Given the description of an element on the screen output the (x, y) to click on. 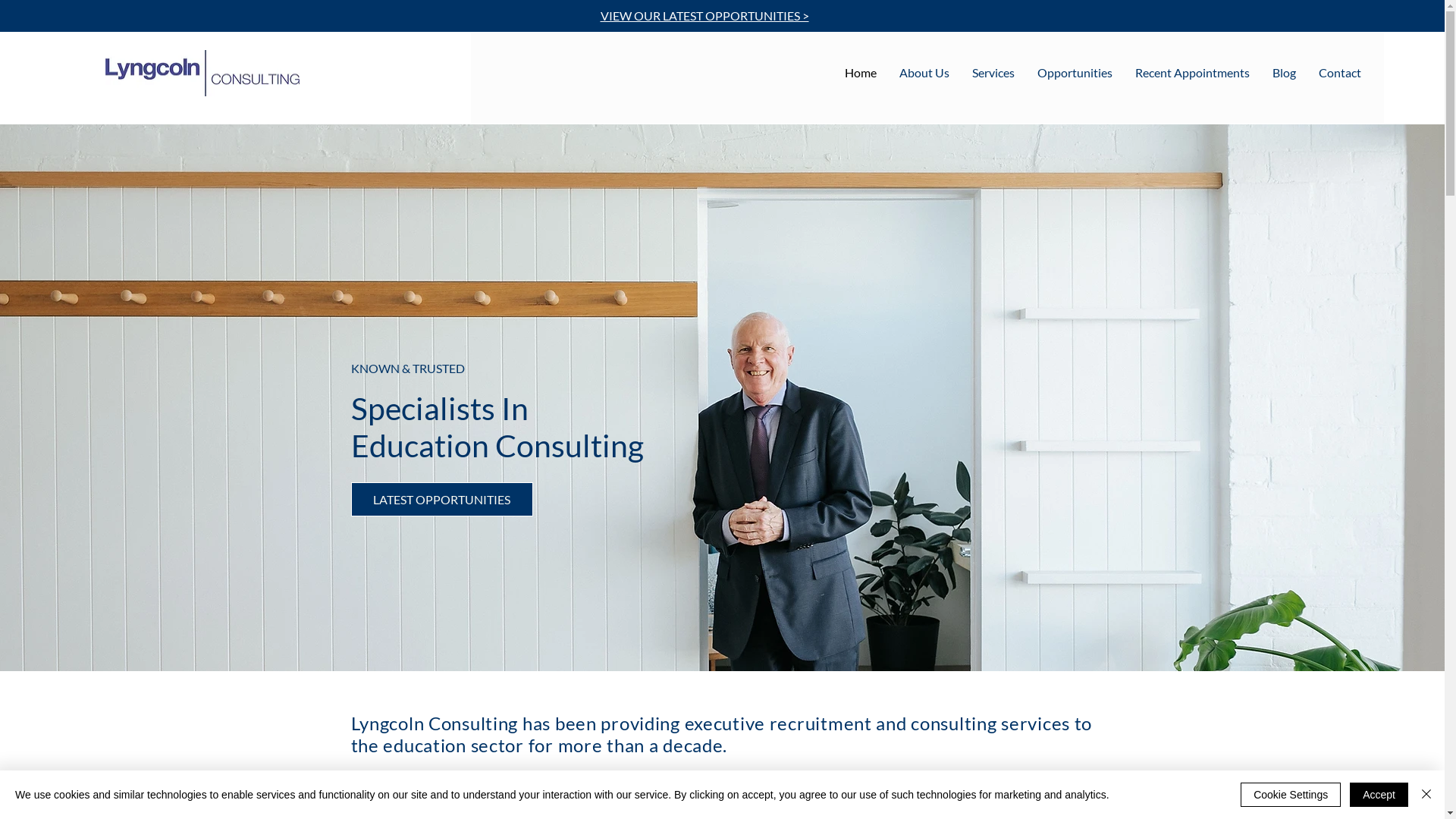
LATEST OPPORTUNITIES Element type: text (441, 499)
Blog Element type: text (1284, 72)
Cookie Settings Element type: text (1290, 794)
Recent Appointments Element type: text (1192, 72)
Home Element type: text (860, 72)
Contact Element type: text (1339, 72)
Opportunities Element type: text (1074, 72)
Accept Element type: text (1378, 794)
VIEW OUR LATEST OPPORTUNITIES > Element type: text (704, 16)
